Given the description of an element on the screen output the (x, y) to click on. 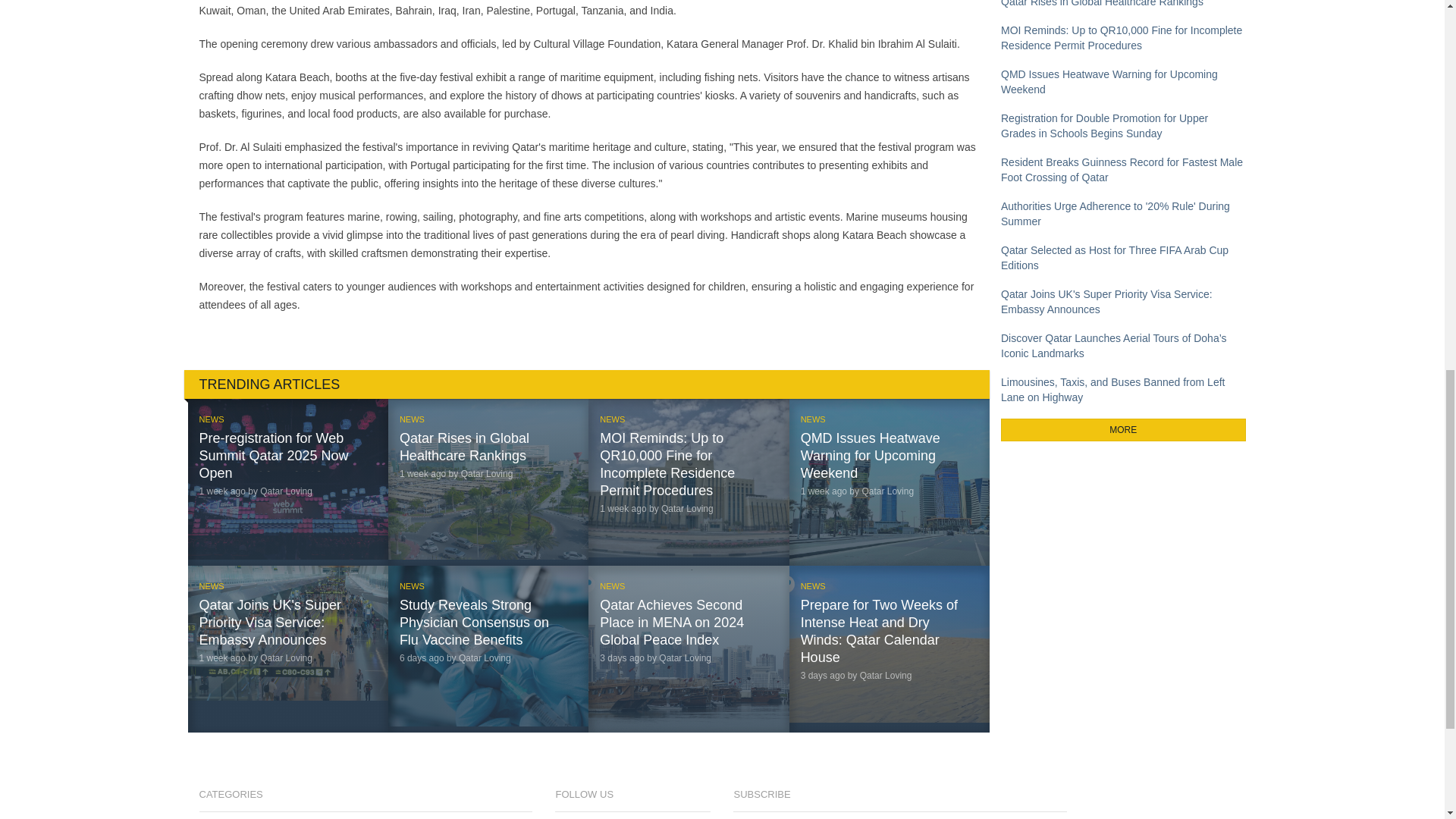
Qatar Loving (887, 491)
Pre-registration for Web Summit Qatar 2025 Now Open (272, 455)
Qatar Loving (886, 675)
Qatar Rises in Global Healthcare Rankings (463, 446)
Qatar Loving (685, 657)
Qatar Loving (687, 508)
Qatar Loving (487, 473)
Qatar Loving (286, 657)
Qatar Loving (484, 657)
TRENDING ARTICLES (586, 384)
